Given the description of an element on the screen output the (x, y) to click on. 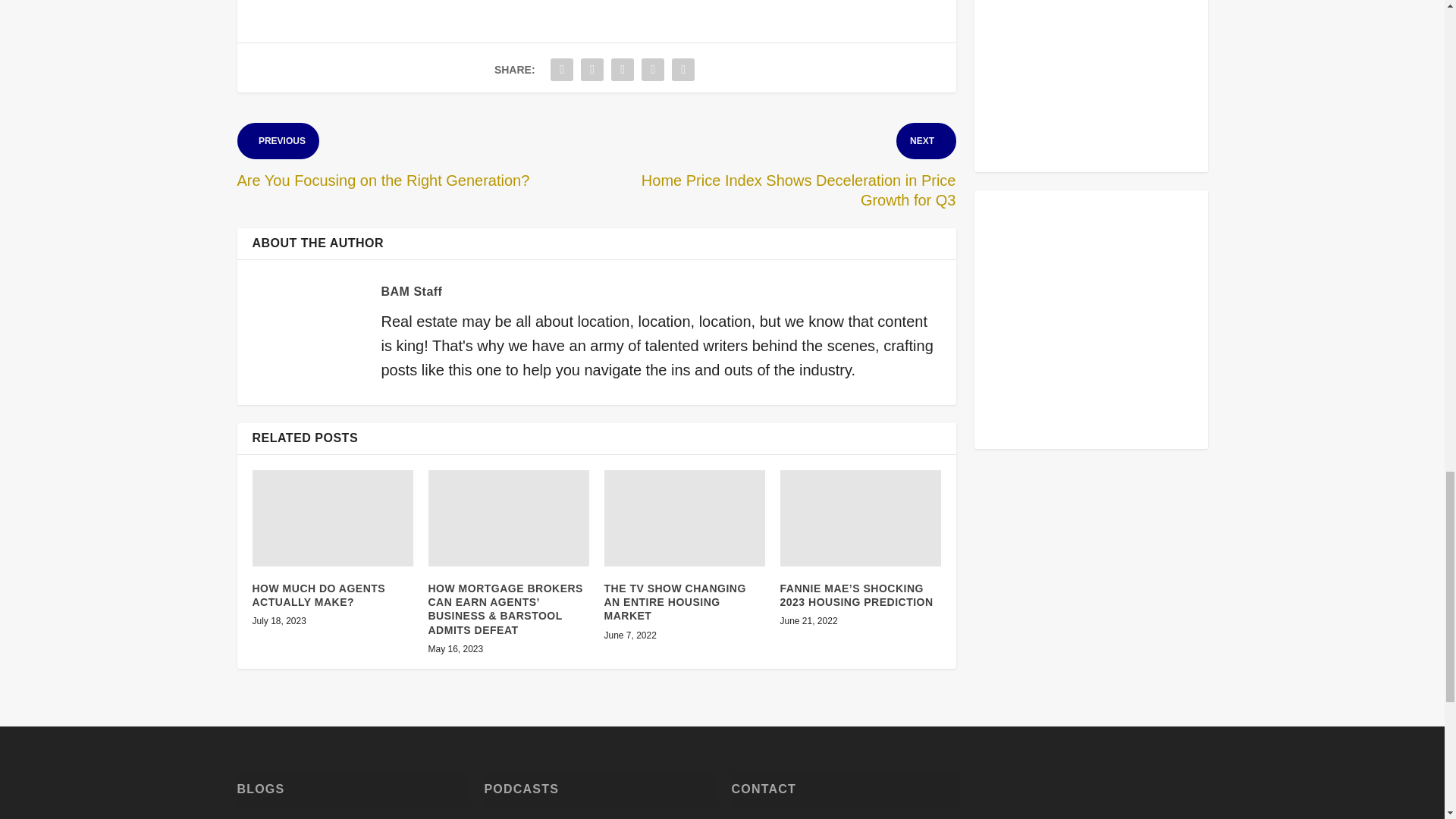
How Much Do Agents ACTUALLY Make? (331, 518)
The TV Show Changing An ENTIRE Housing Market (684, 518)
View all posts by BAM Staff (411, 291)
